Given the description of an element on the screen output the (x, y) to click on. 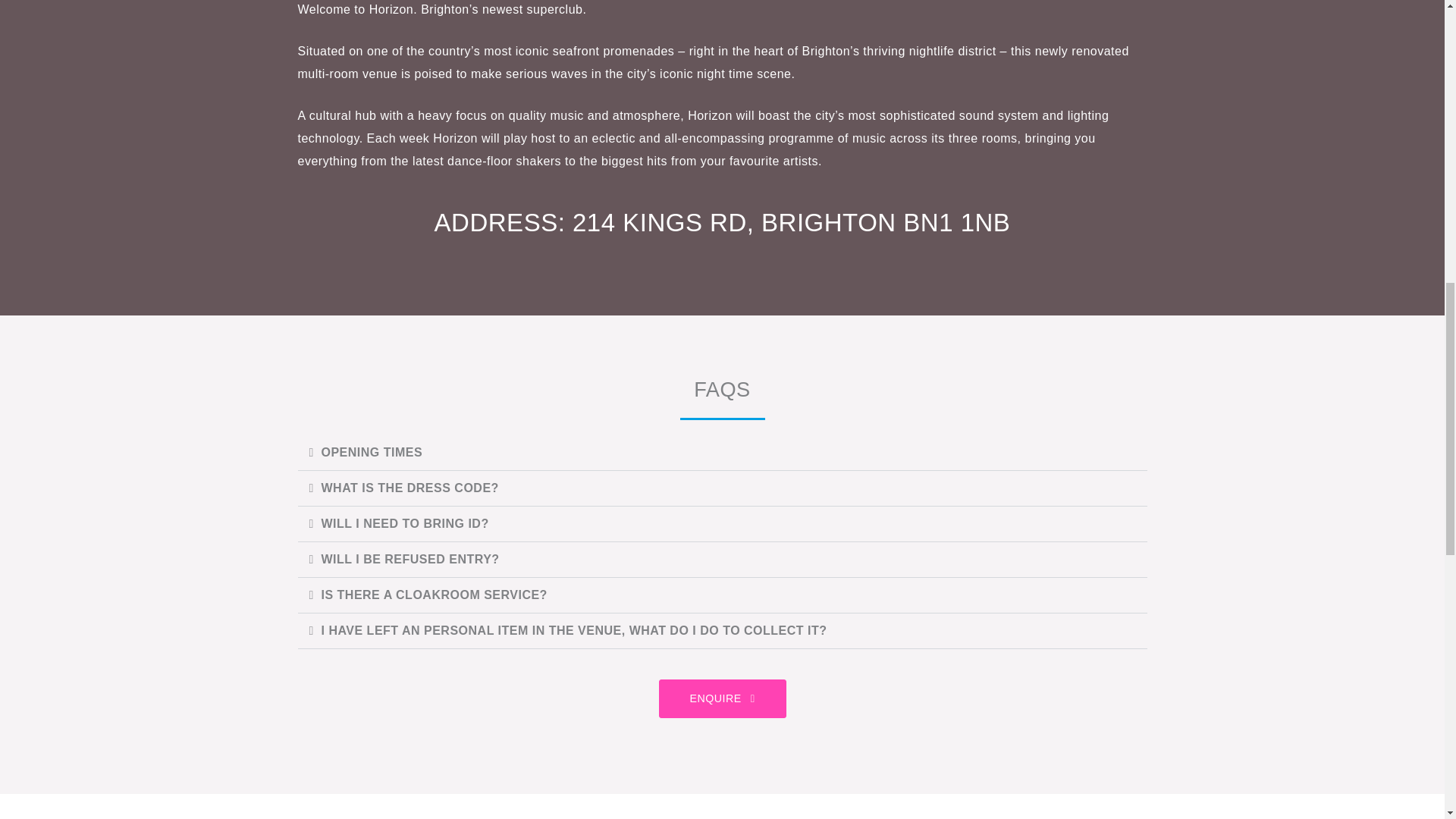
ENQUIRE (722, 698)
WILL I BE REFUSED ENTRY? (410, 558)
IS THERE A CLOAKROOM SERVICE? (434, 594)
WILL I NEED TO BRING ID? (405, 522)
ADDRESS: 214 KINGS RD, BRIGHTON BN1 1NB (721, 222)
WHAT IS THE DRESS CODE? (410, 487)
OPENING TIMES (372, 451)
